Given the description of an element on the screen output the (x, y) to click on. 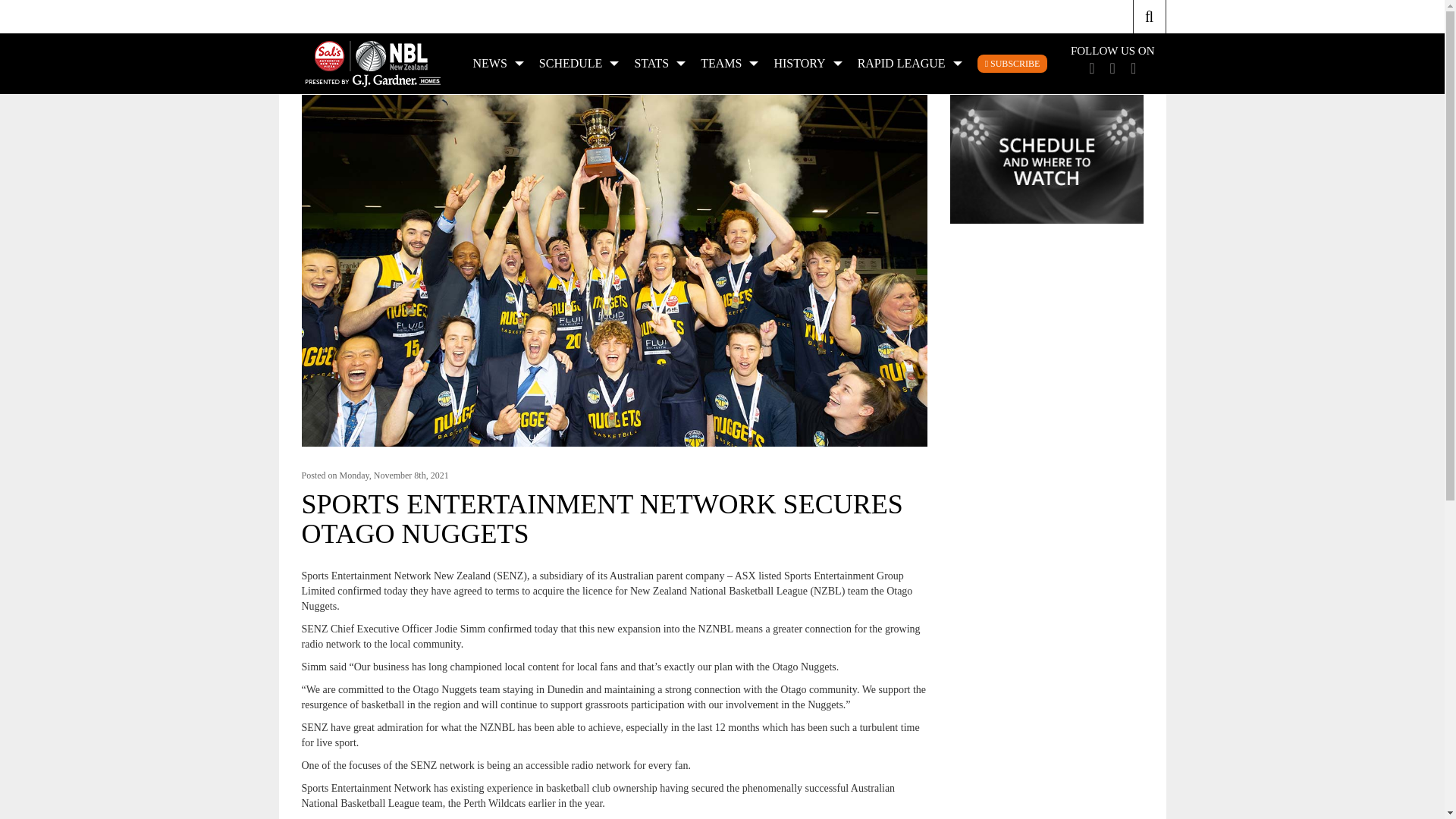
TEAMS (729, 63)
RAPID LEAGUE (909, 63)
HISTORY (806, 63)
STATS (659, 63)
SCHEDULE (579, 63)
Home (897, 33)
NEWS (498, 63)
